Given the description of an element on the screen output the (x, y) to click on. 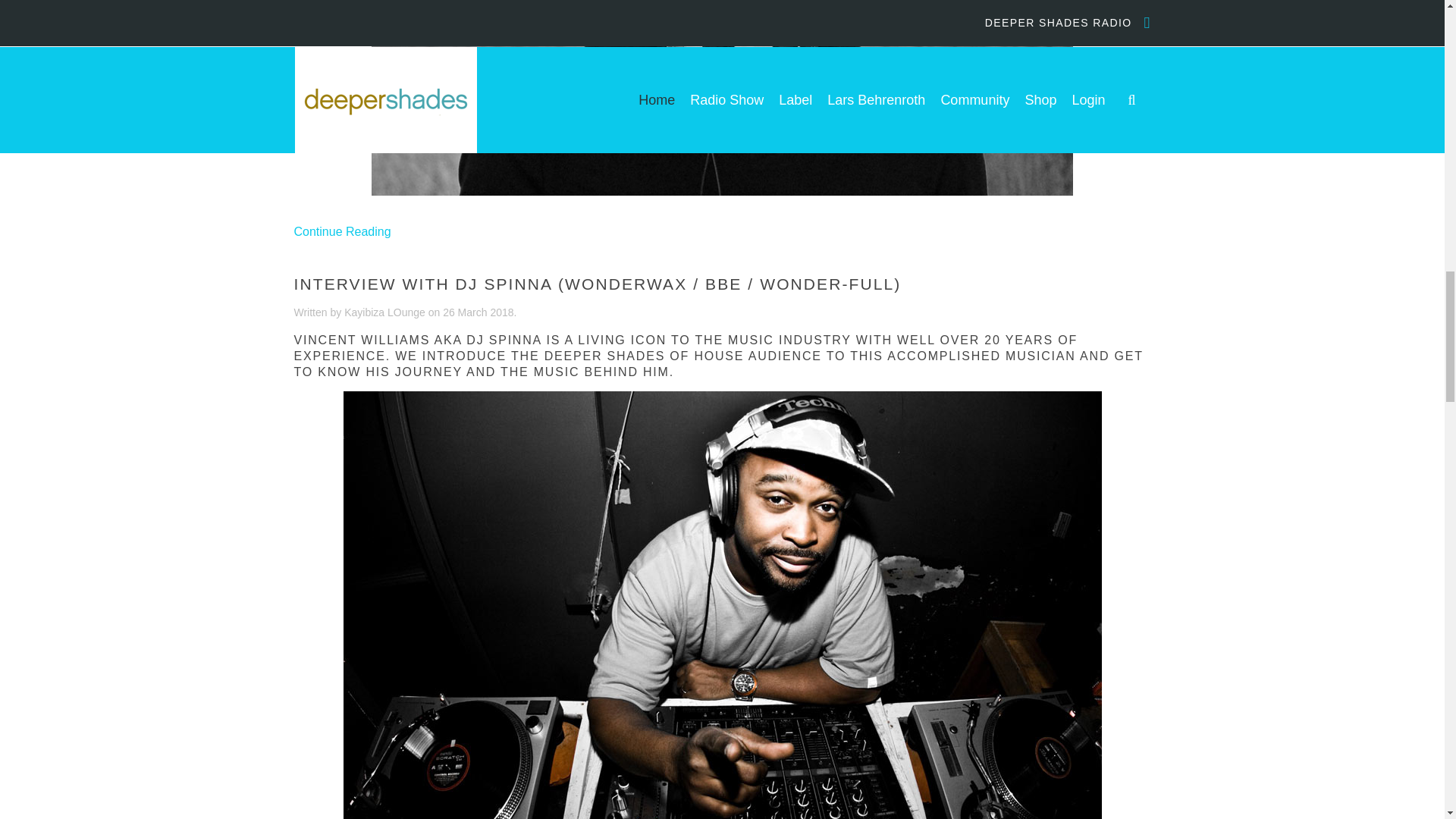
Interview with DJ Spinna - Click to read (721, 631)
